Given the description of an element on the screen output the (x, y) to click on. 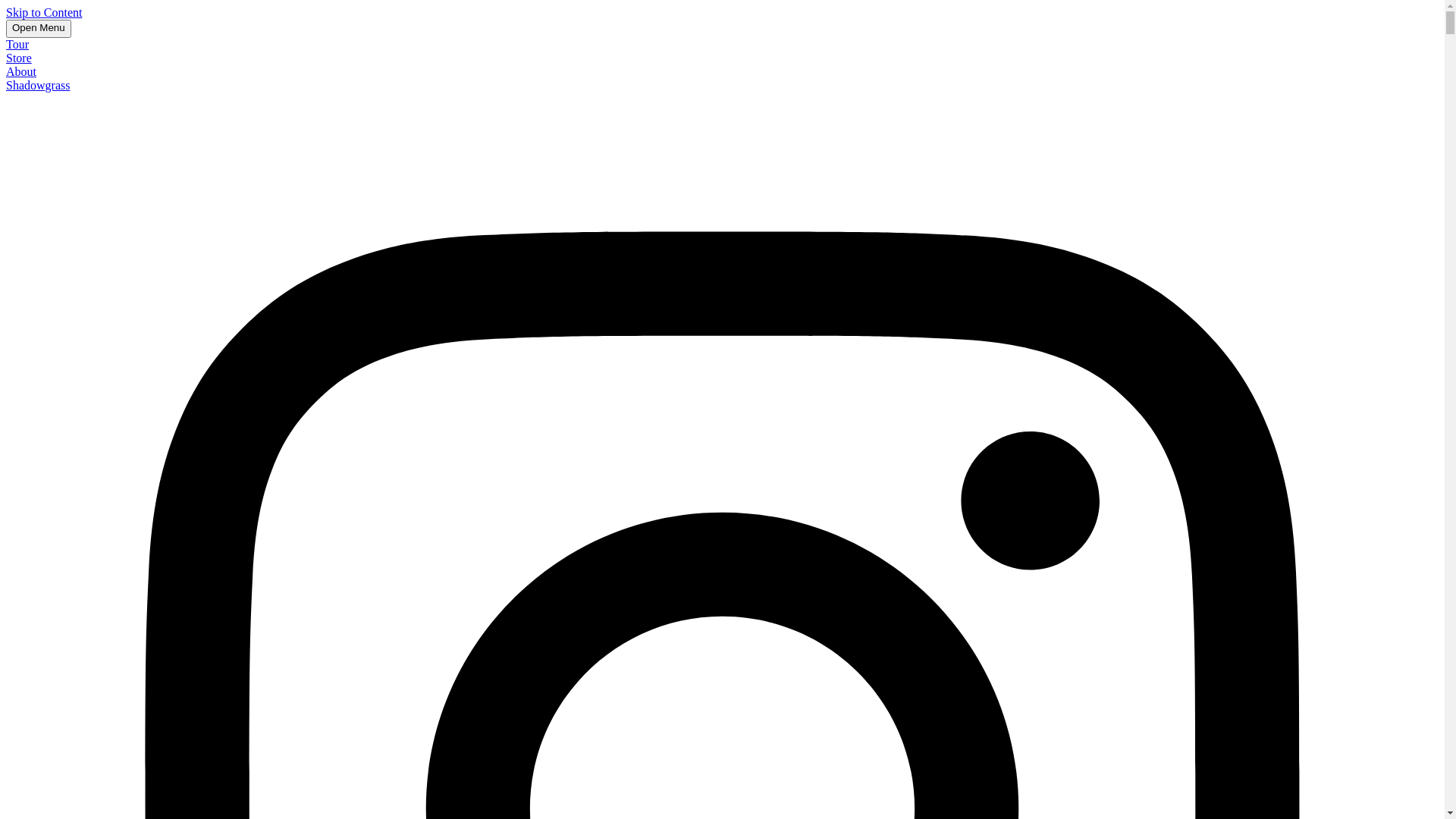
Store Element type: text (18, 57)
About Element type: text (21, 71)
Shadowgrass Element type: text (37, 84)
Open Menu Element type: text (38, 28)
Skip to Content Element type: text (43, 12)
Tour Element type: text (17, 43)
